Given the description of an element on the screen output the (x, y) to click on. 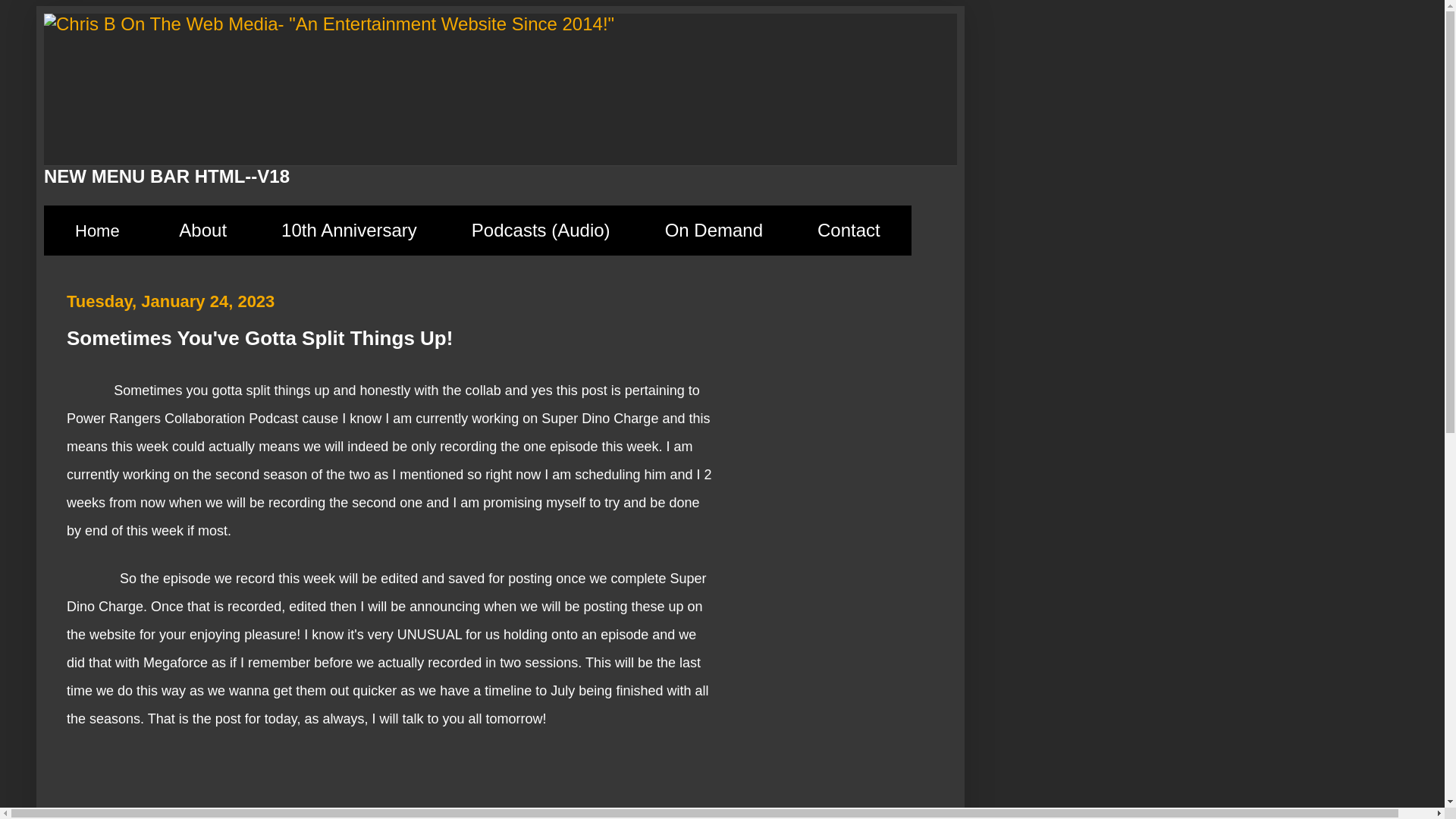
Home (97, 230)
